Given the description of an element on the screen output the (x, y) to click on. 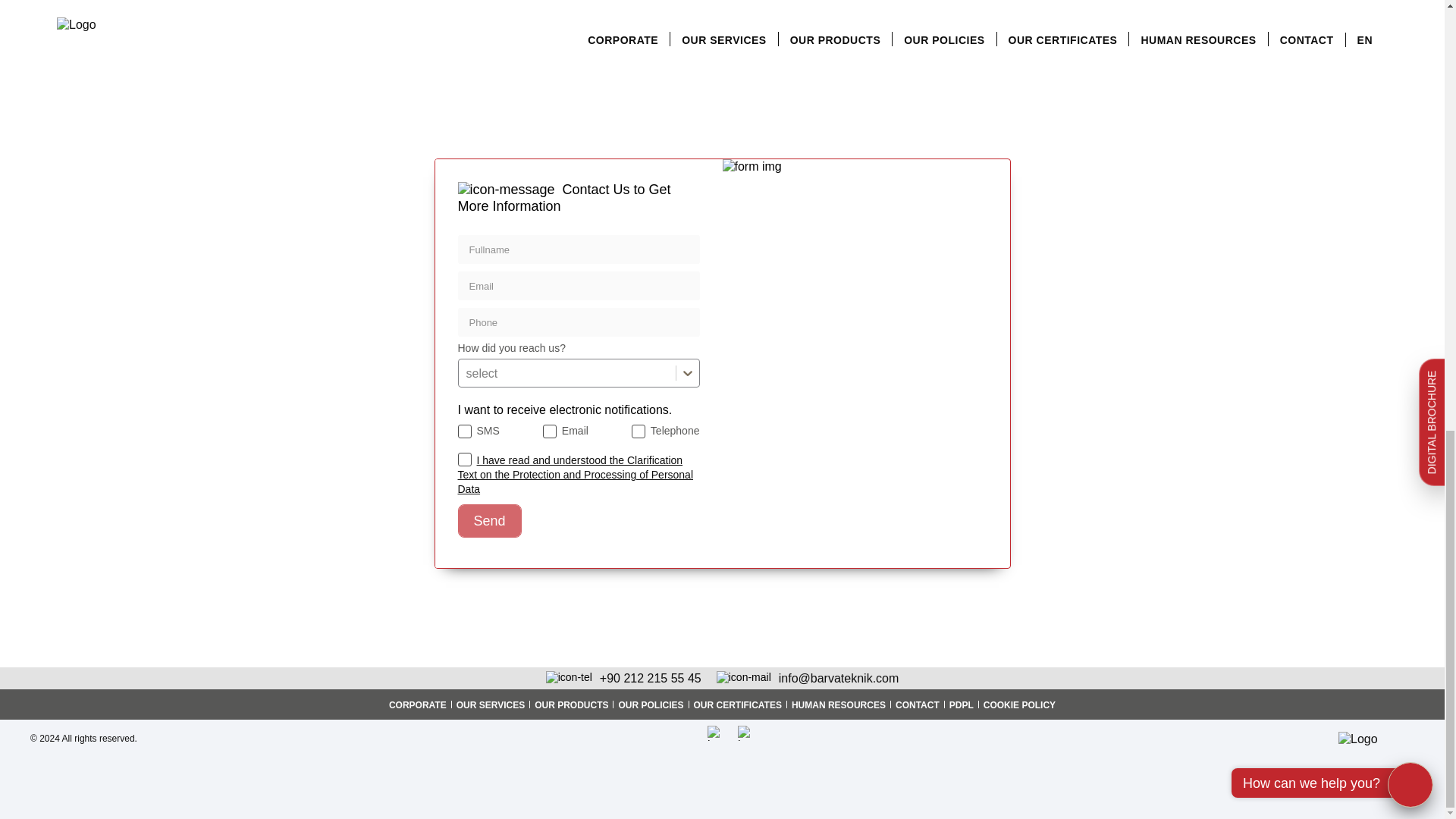
EPOSTA ONAY (549, 431)
OUR CERTIFICATES (737, 704)
OUR SERVICES (490, 704)
on (464, 459)
CORPORATE (417, 704)
Send (489, 520)
SMS ONAY (464, 431)
OUR POLICIES (650, 704)
Logo (1375, 739)
TELEFON ONAY (638, 431)
OUR PRODUCTS (570, 704)
